Given the description of an element on the screen output the (x, y) to click on. 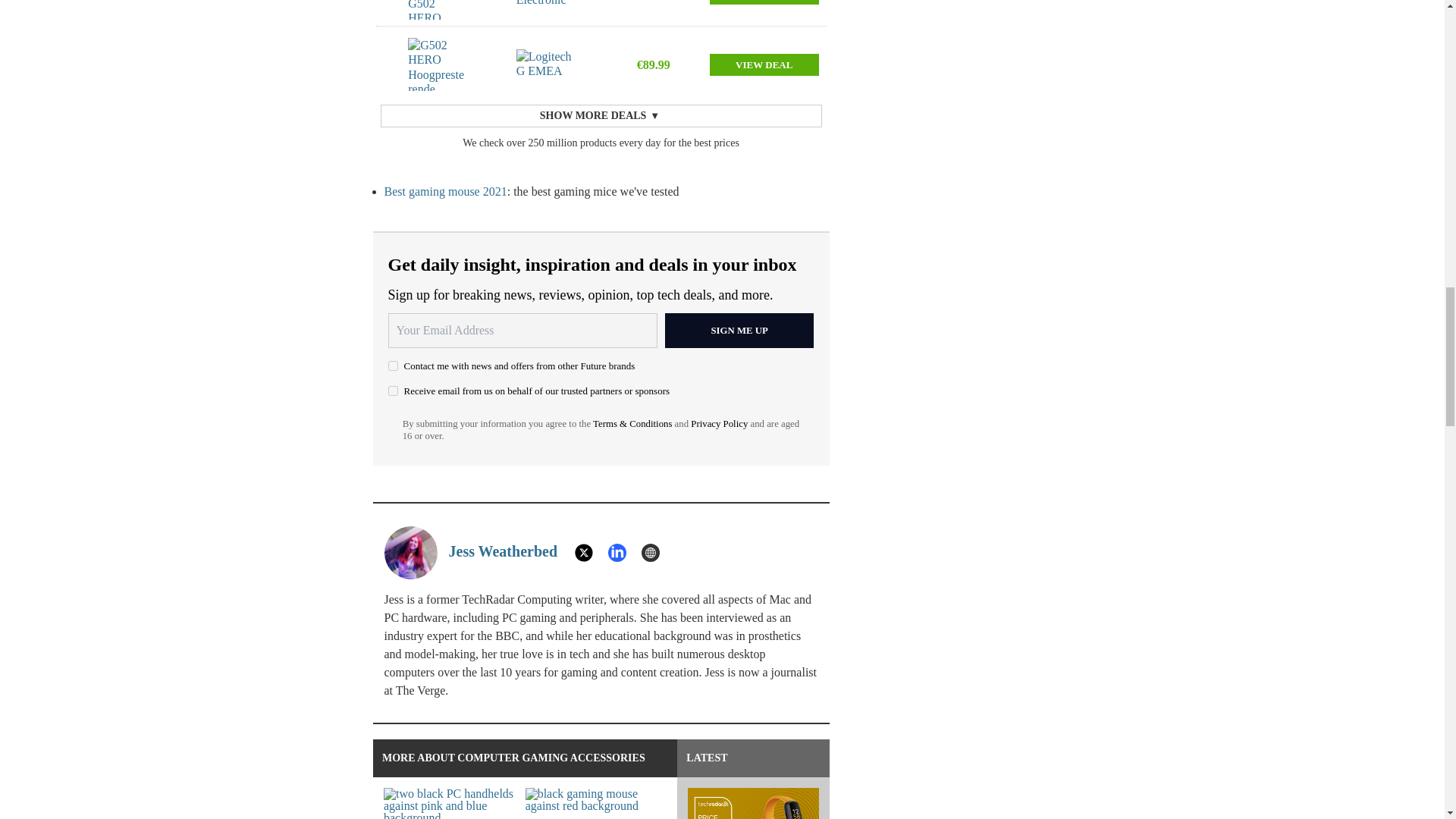
Logitech Gaming G502 HERO... (437, 9)
Conrad Electronic (546, 4)
Logitech G EMEA (546, 64)
on (392, 390)
Sign me up (739, 330)
G502 HERO Hoogpresterende... (437, 63)
on (392, 366)
